Given the description of an element on the screen output the (x, y) to click on. 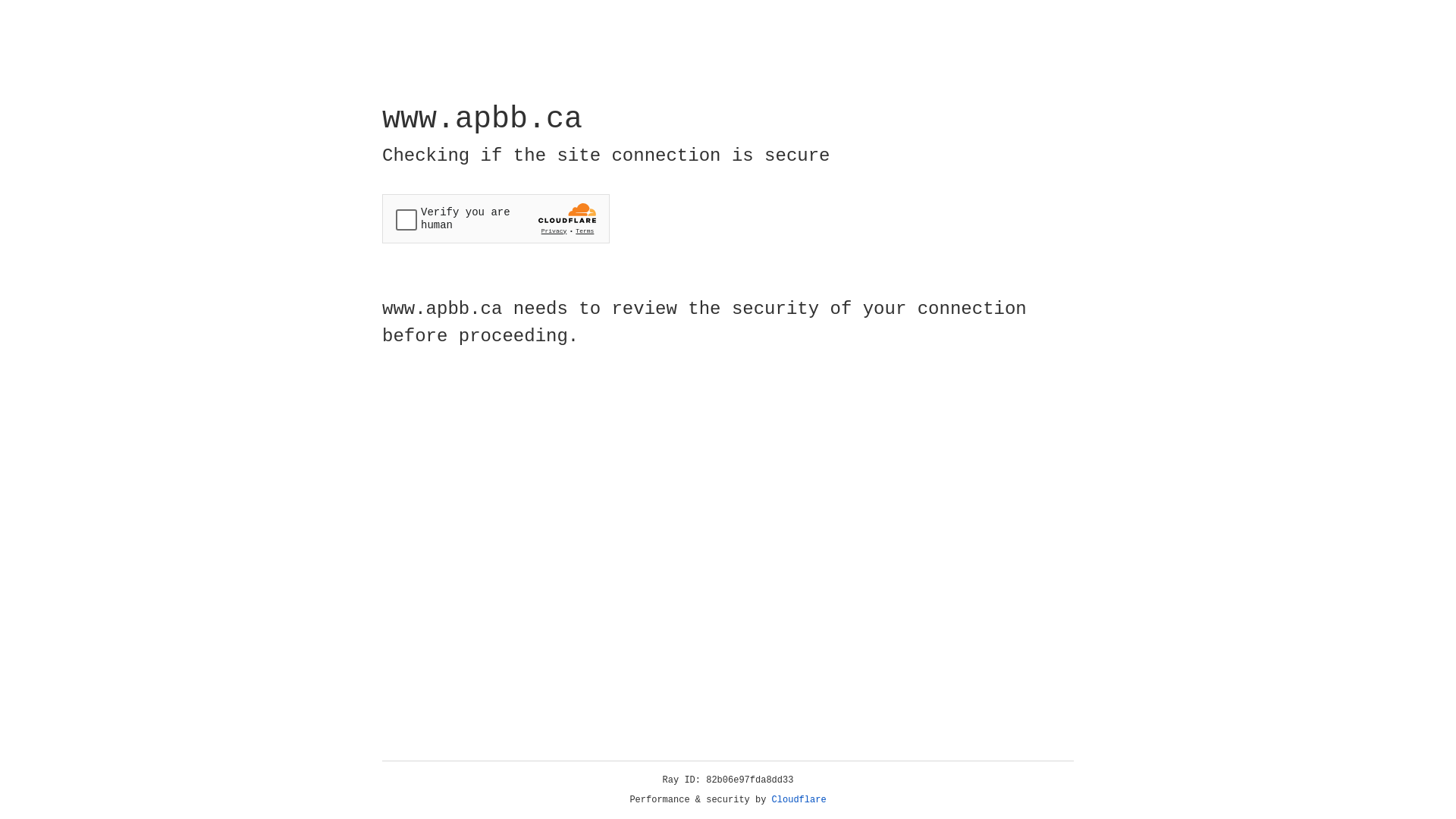
Cloudflare Element type: text (798, 799)
Widget containing a Cloudflare security challenge Element type: hover (495, 218)
